Given the description of an element on the screen output the (x, y) to click on. 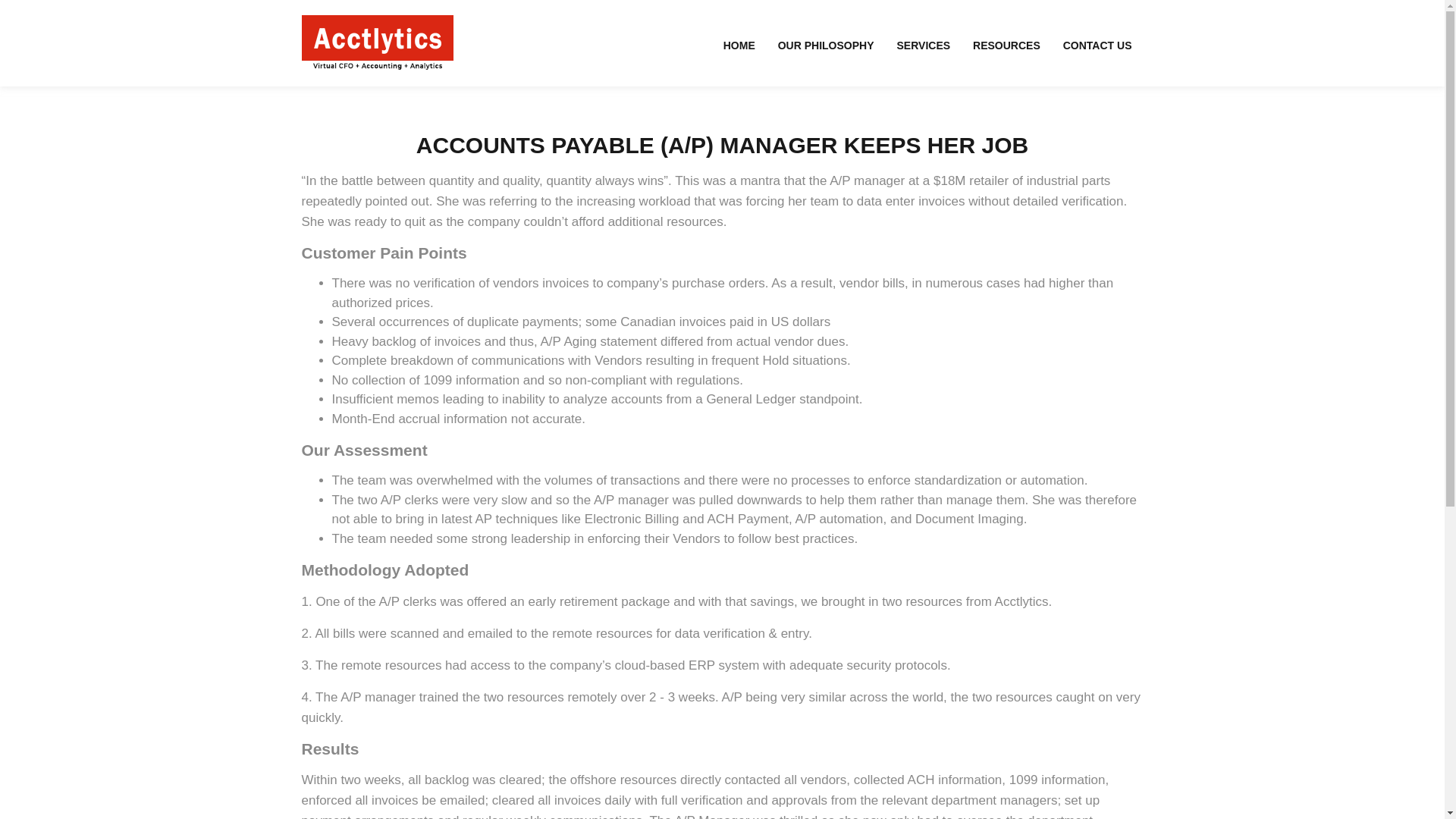
OUR PHILOSOPHY (826, 45)
RESOURCES (1005, 45)
HOME (739, 45)
SERVICES (923, 45)
CONTACT US (1096, 45)
